Given the description of an element on the screen output the (x, y) to click on. 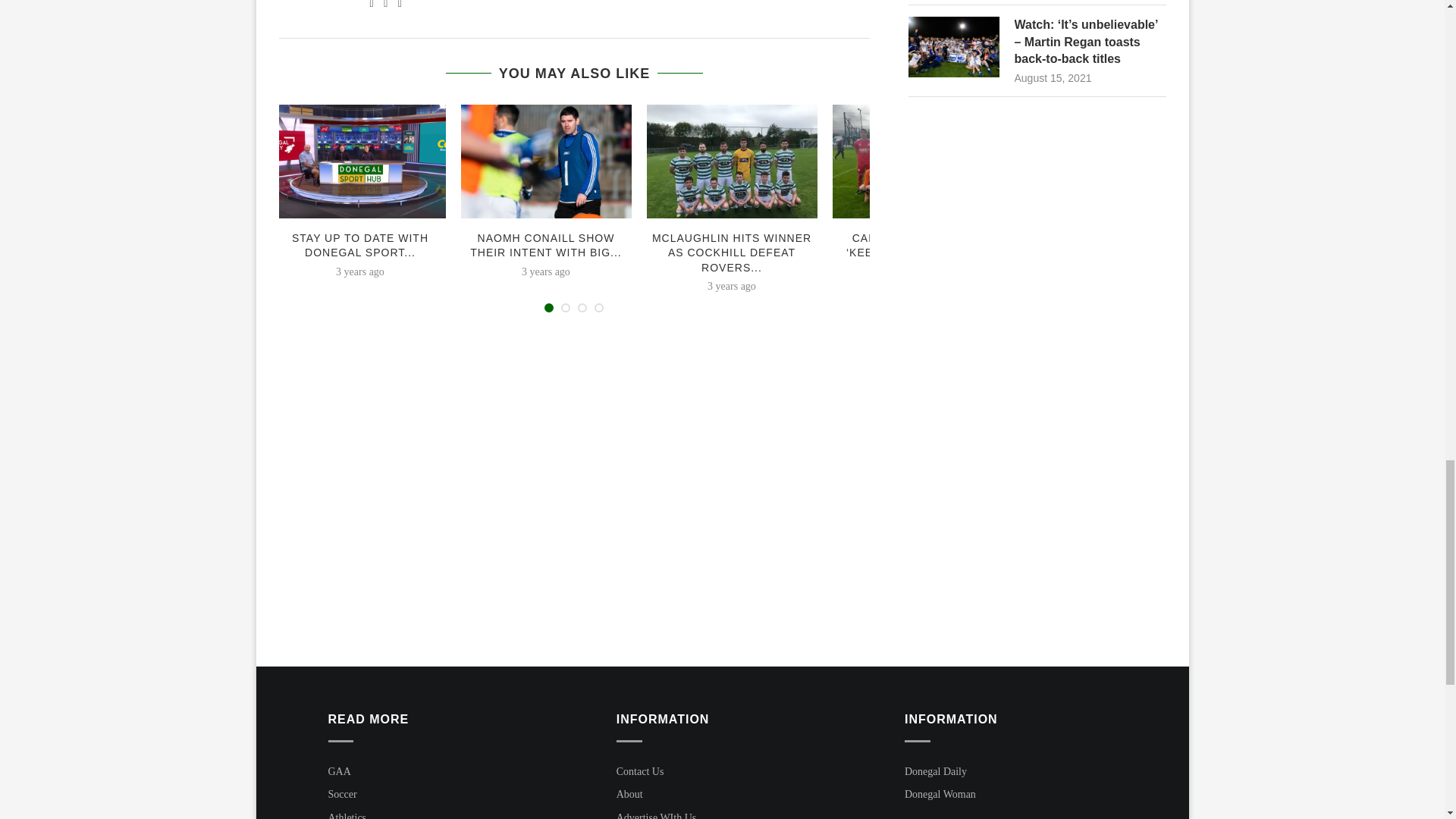
Stay up to date with Donegal Sport Hub on Facebook (360, 161)
